Given the description of an element on the screen output the (x, y) to click on. 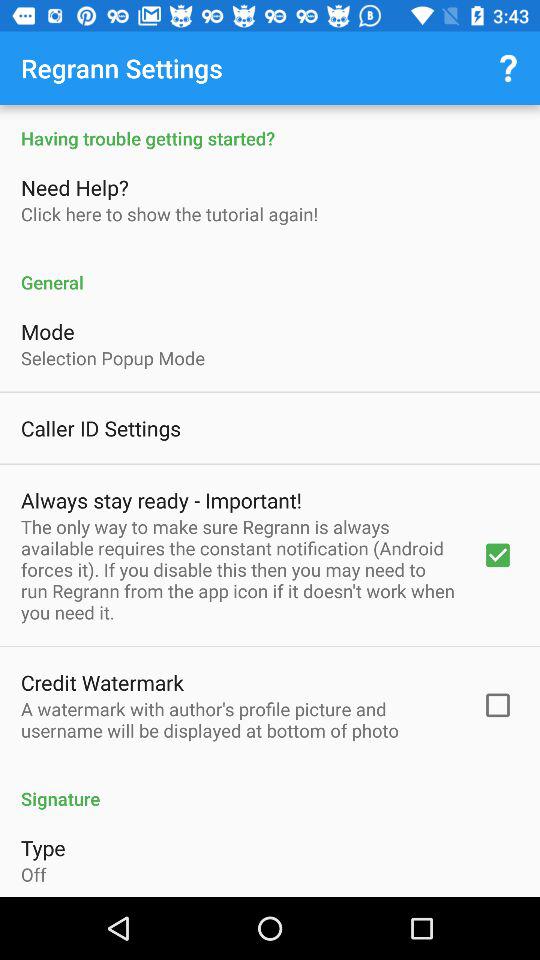
settings screen (270, 501)
